Given the description of an element on the screen output the (x, y) to click on. 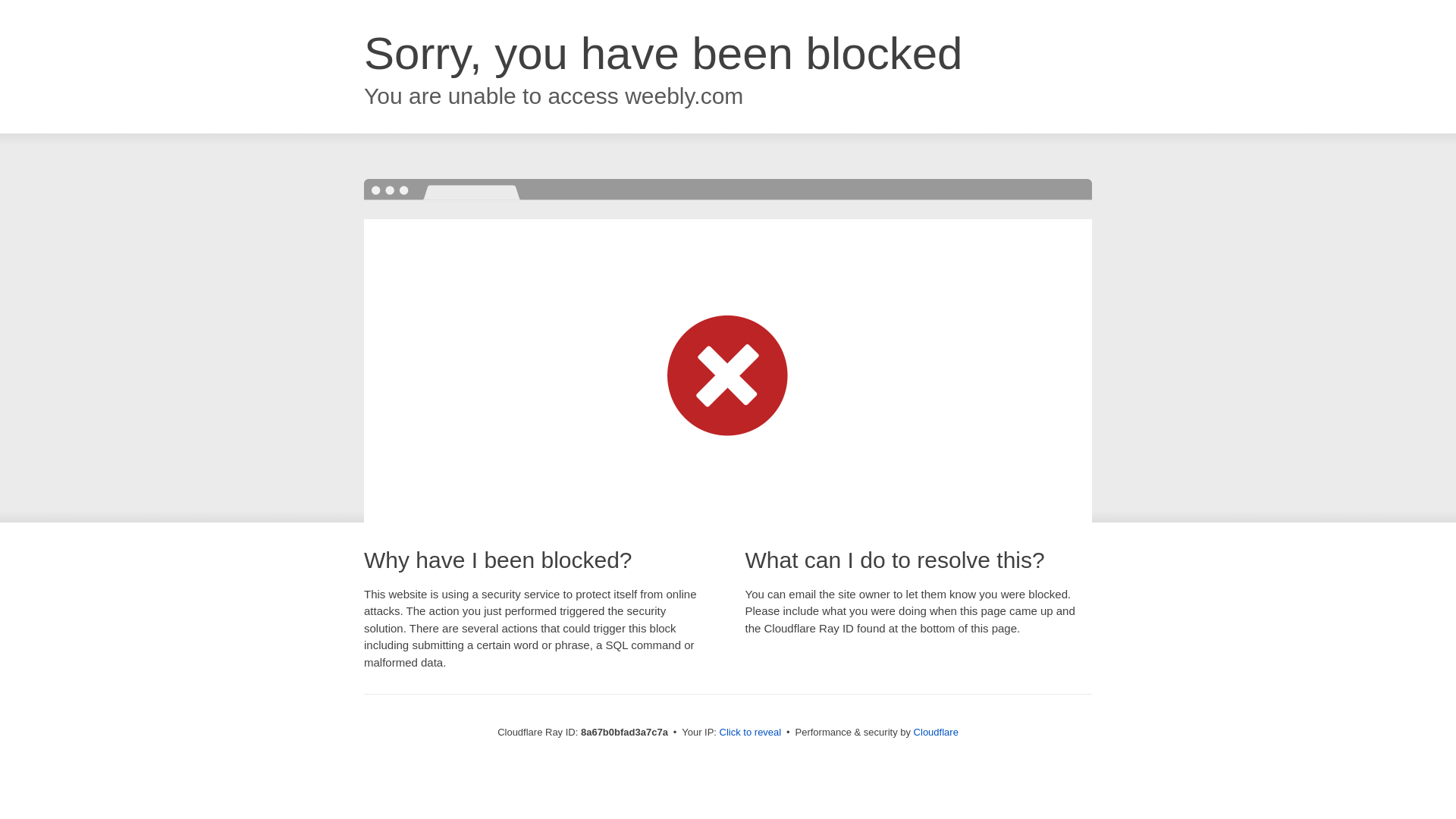
Cloudflare (936, 731)
Click to reveal (750, 732)
